Given the description of an element on the screen output the (x, y) to click on. 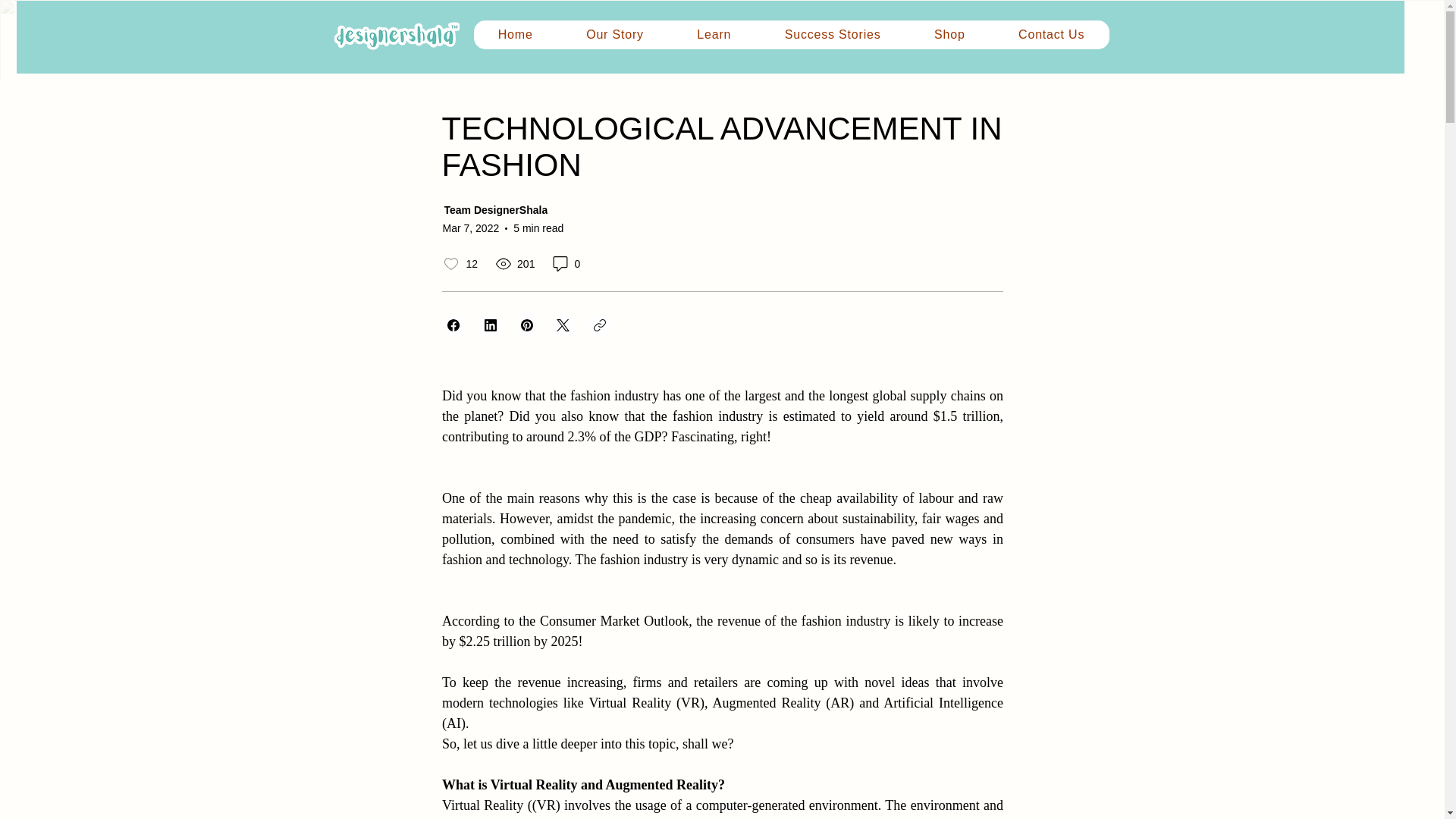
Shop (950, 34)
Contact Us (1051, 34)
Team DesignerShala (556, 210)
Home (514, 34)
Success Stories (832, 34)
Our Story (615, 34)
